Given the description of an element on the screen output the (x, y) to click on. 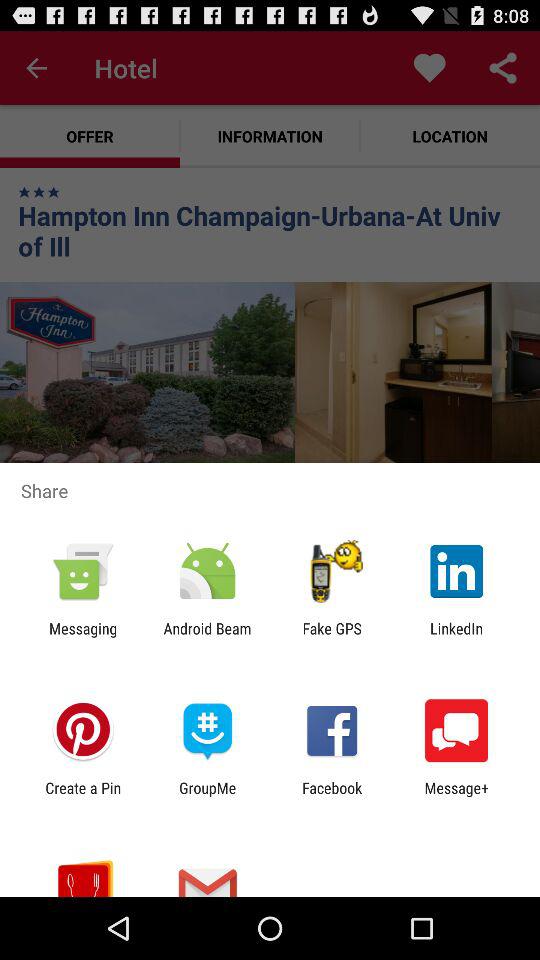
turn on the icon to the left of the message+ (332, 796)
